Given the description of an element on the screen output the (x, y) to click on. 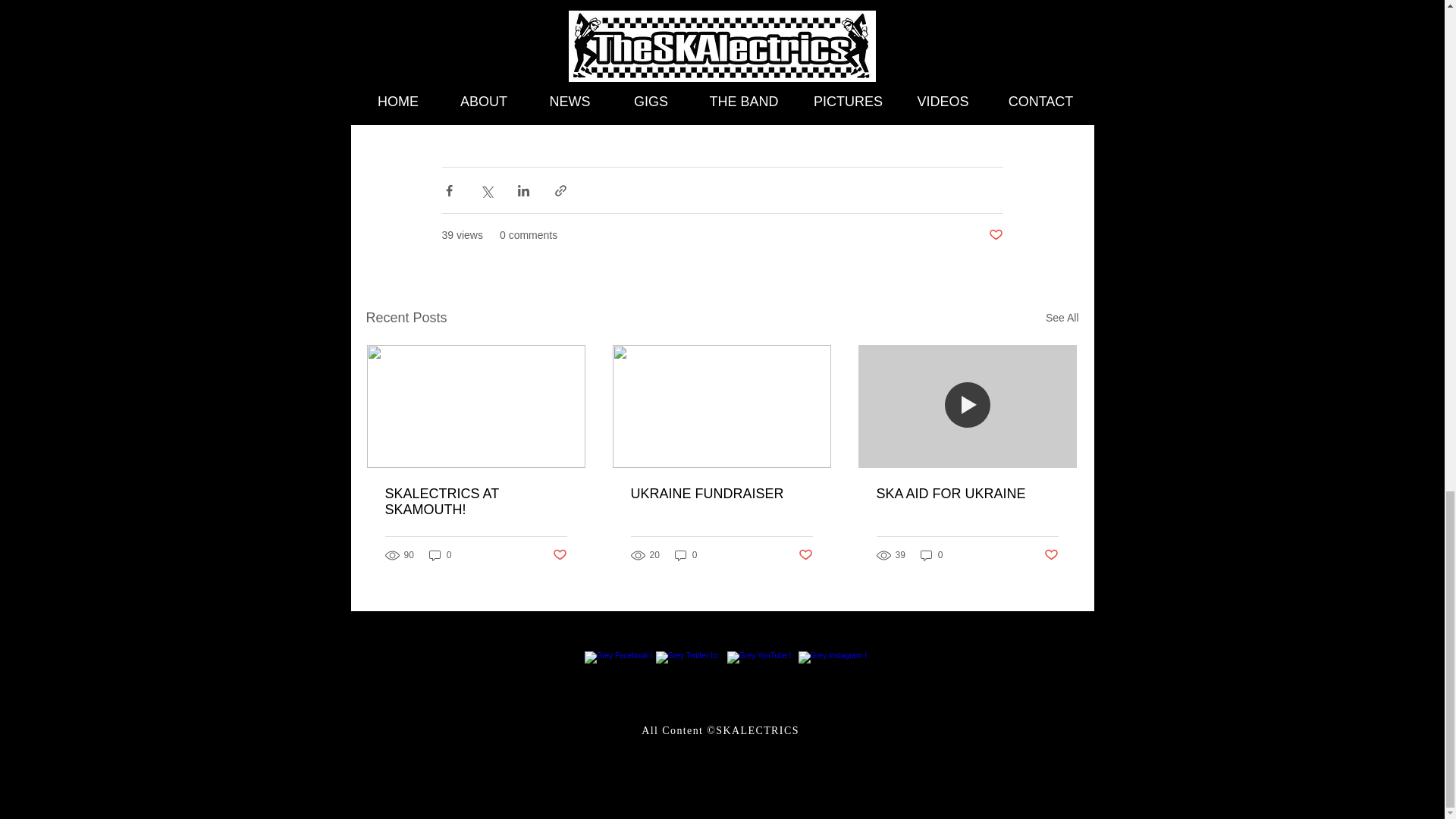
Post not marked as liked (804, 554)
Post not marked as liked (558, 554)
0 (931, 554)
UKRAINE FUNDRAISER (721, 494)
SKA AID FOR UKRAINE (967, 494)
Post not marked as liked (1050, 554)
Post not marked as liked (995, 235)
0 (685, 554)
See All (1061, 318)
0 (440, 554)
SKALECTRICS AT SKAMOUTH! (476, 501)
